Given the description of an element on the screen output the (x, y) to click on. 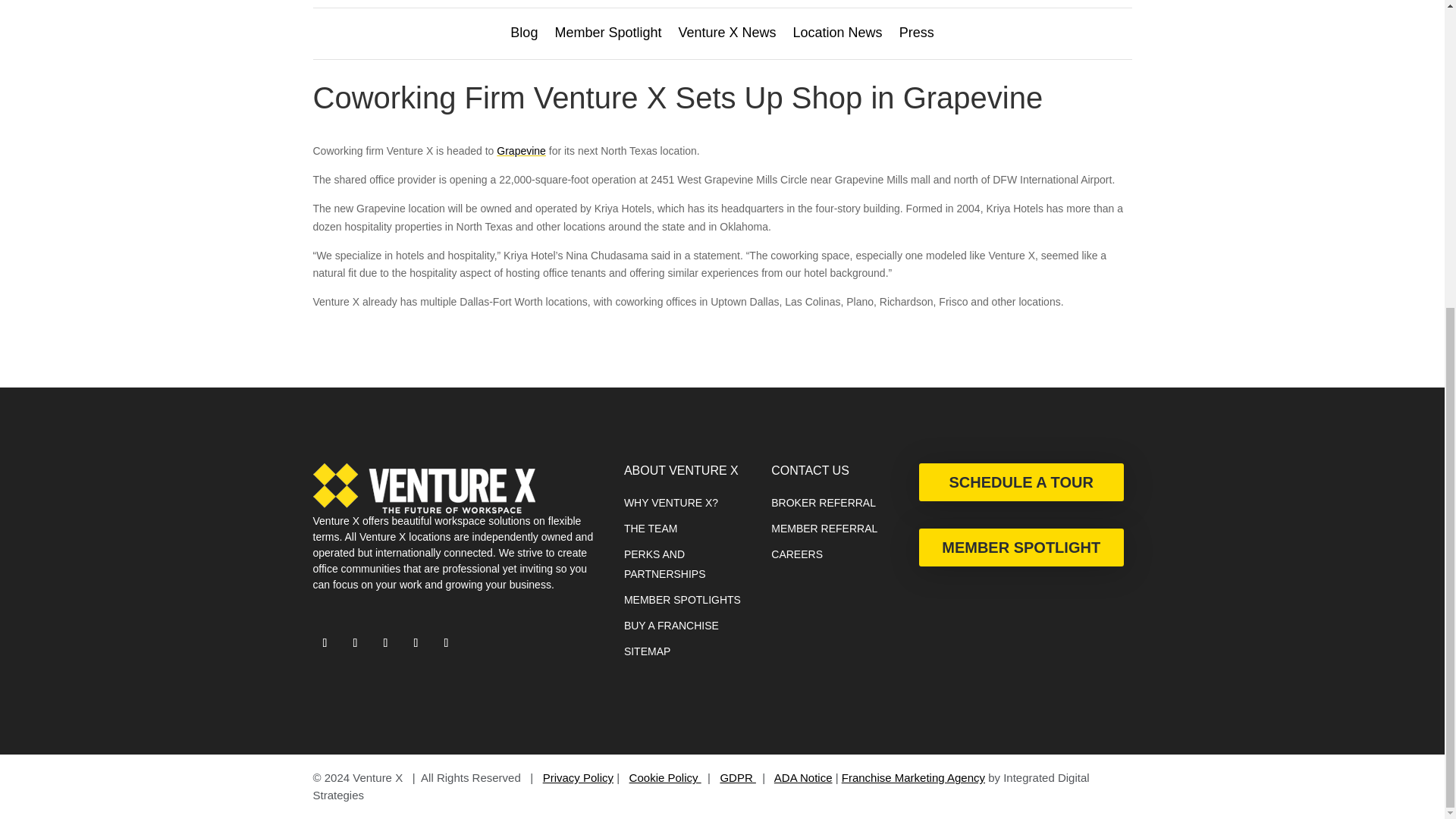
Follow on X (324, 642)
logo (423, 488)
Follow on Instagram (384, 642)
Follow on Facebook (354, 642)
Follow on LinkedIn (415, 642)
Follow on Pinterest (445, 642)
